Given the description of an element on the screen output the (x, y) to click on. 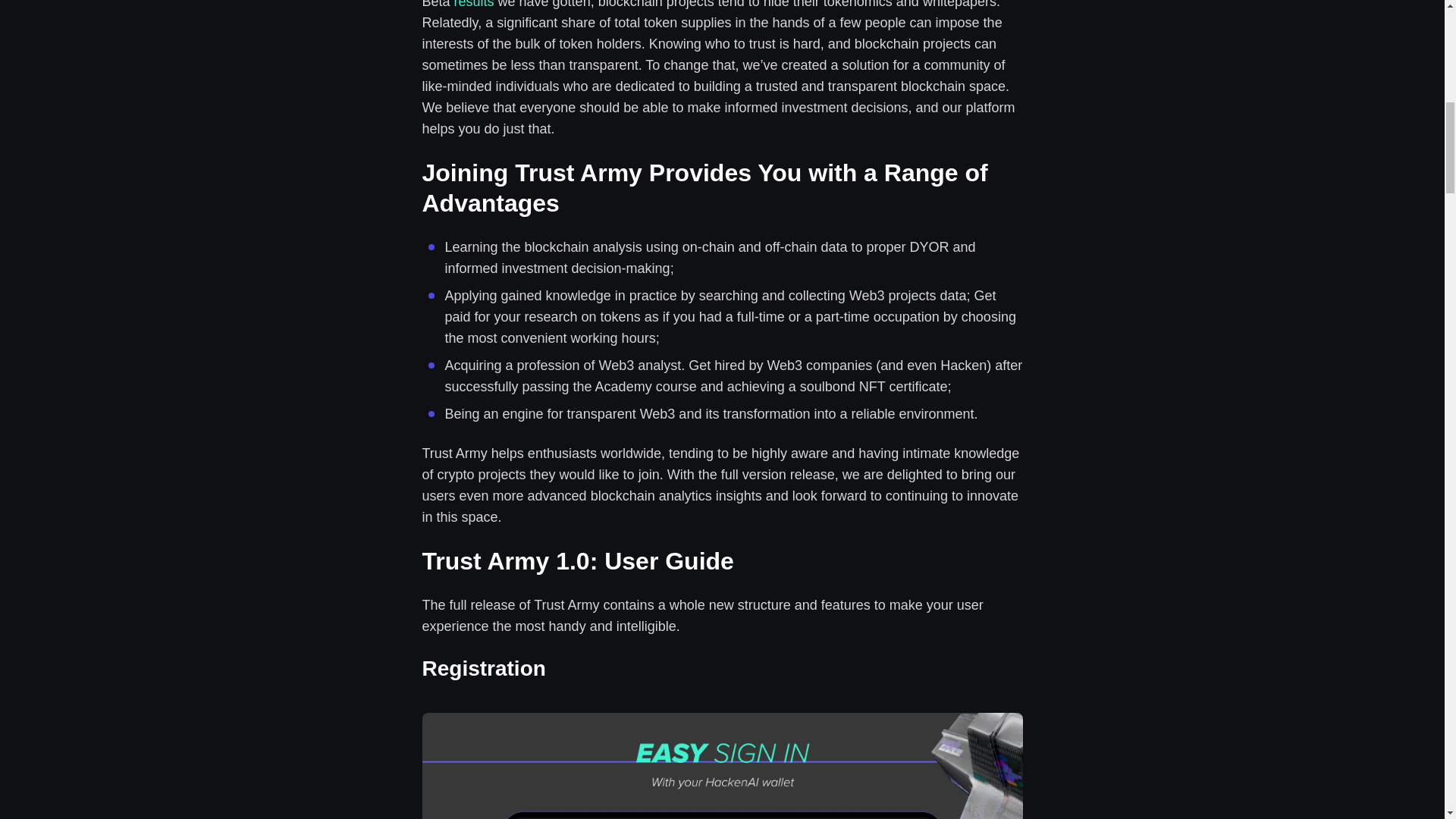
results (474, 4)
